Given the description of an element on the screen output the (x, y) to click on. 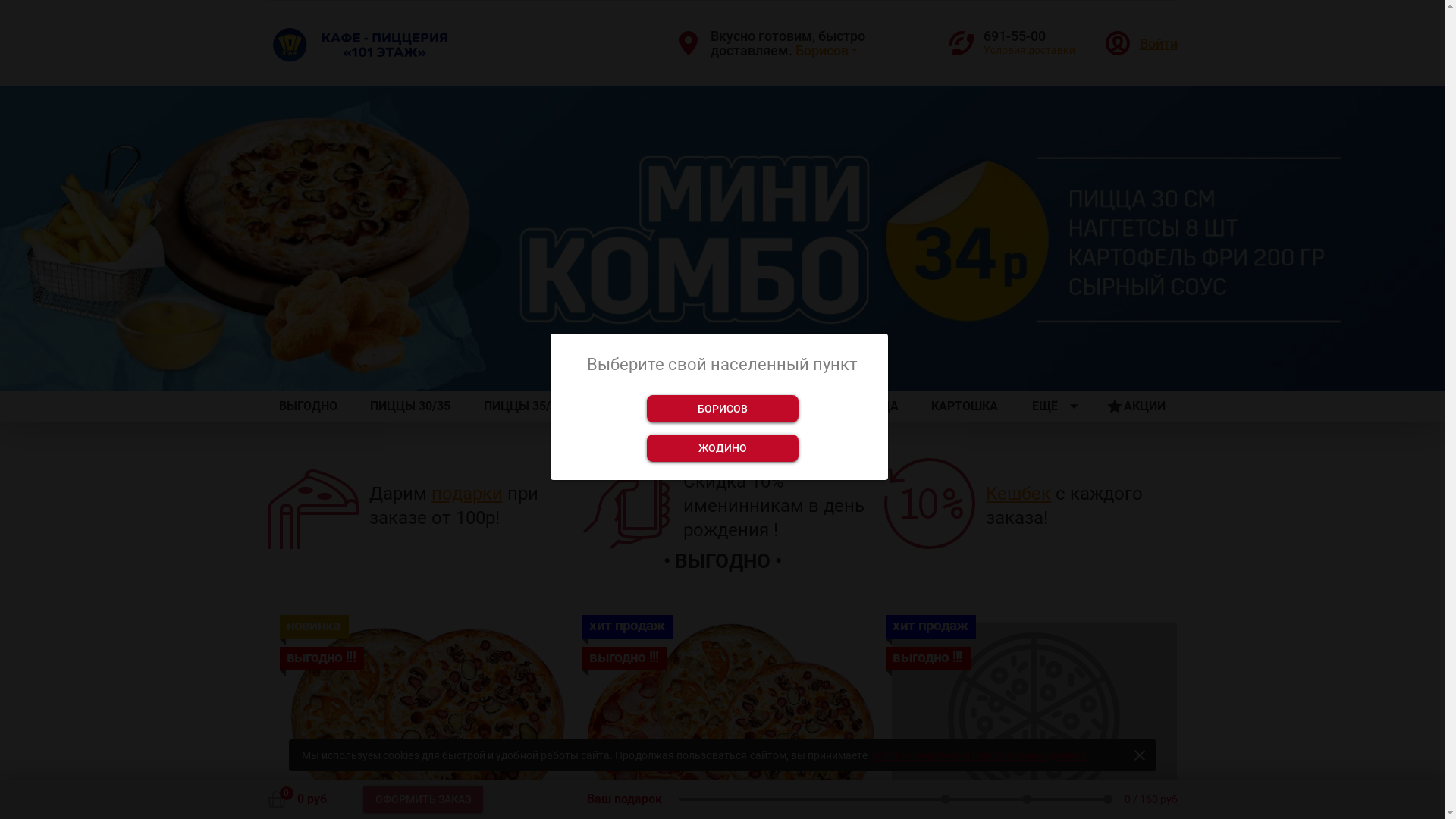
close Element type: text (1139, 755)
radio_button_unchecked Element type: text (762, 364)
radio_button_unchecked Element type: text (788, 364)
radio_button_unchecked Element type: text (681, 364)
radio_button_unchecked Element type: text (708, 364)
radio_button_unchecked Element type: text (734, 364)
radio_button_unchecked Element type: text (655, 364)
691-55-00 Element type: text (1028, 35)
